Given the description of an element on the screen output the (x, y) to click on. 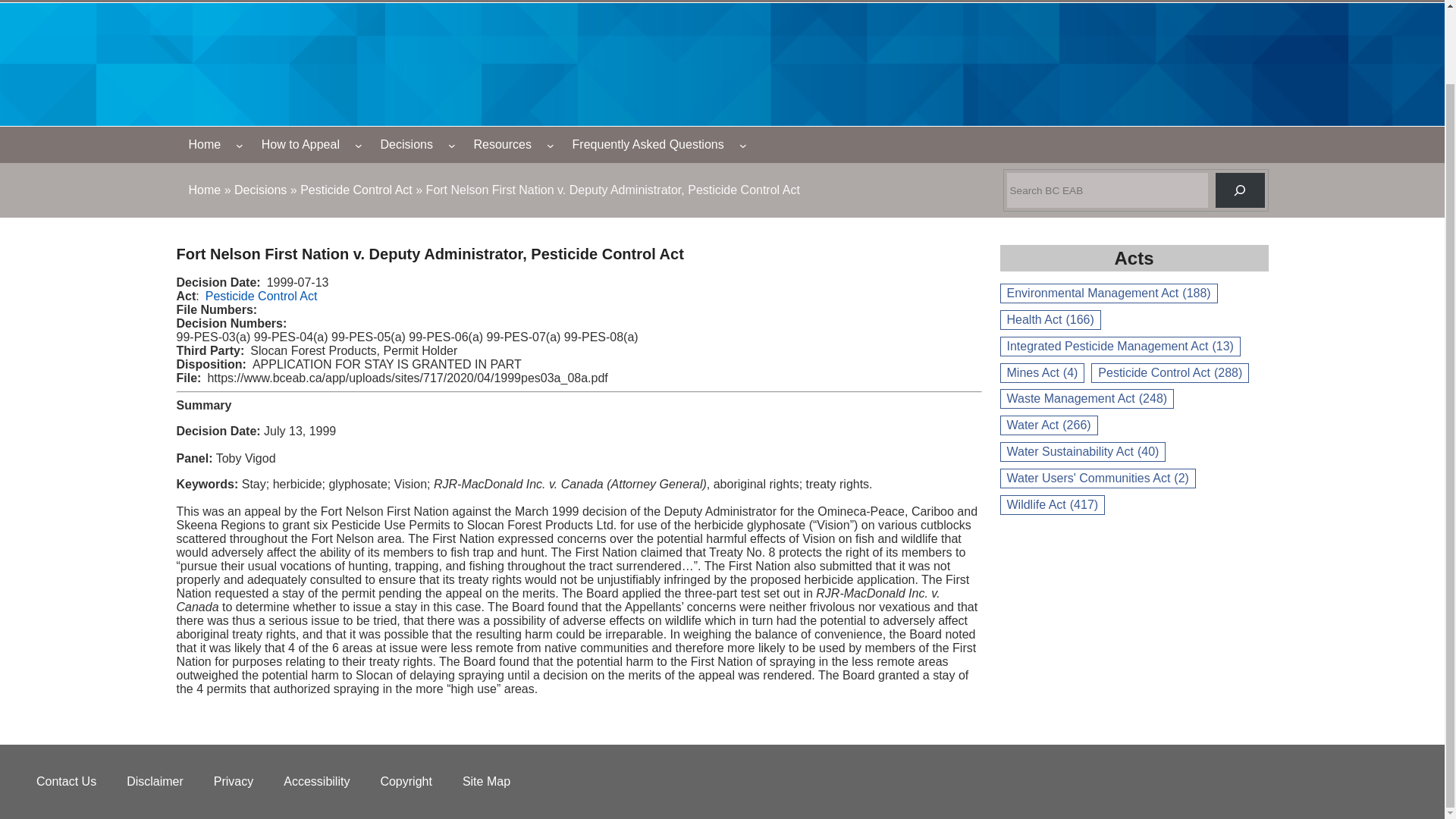
How to Appeal (300, 144)
Decisions (260, 189)
Pesticide Control Act (261, 295)
Pesticide Control Act (355, 189)
Home (204, 144)
Decisions (406, 144)
Pesticide Control Act (355, 189)
Home (204, 189)
Resources (502, 144)
Frequently Asked Questions (648, 144)
